Given the description of an element on the screen output the (x, y) to click on. 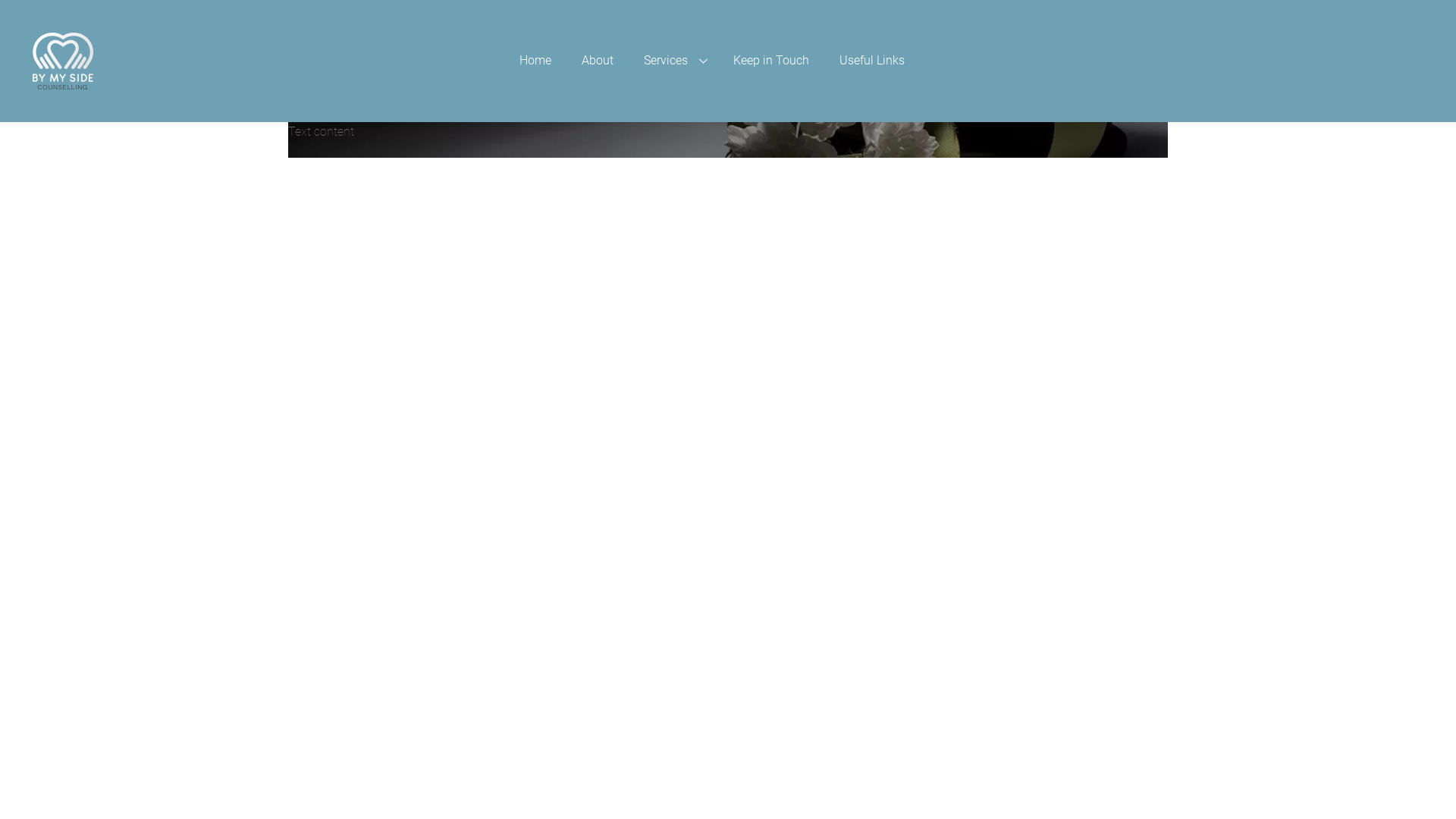
Home Element type: text (535, 60)
Keep in Touch Element type: text (771, 60)
Services Element type: text (673, 60)
by-my-side-final-white Element type: hover (62, 60)
Useful Links Element type: text (871, 60)
About Element type: text (597, 60)
